Given the description of an element on the screen output the (x, y) to click on. 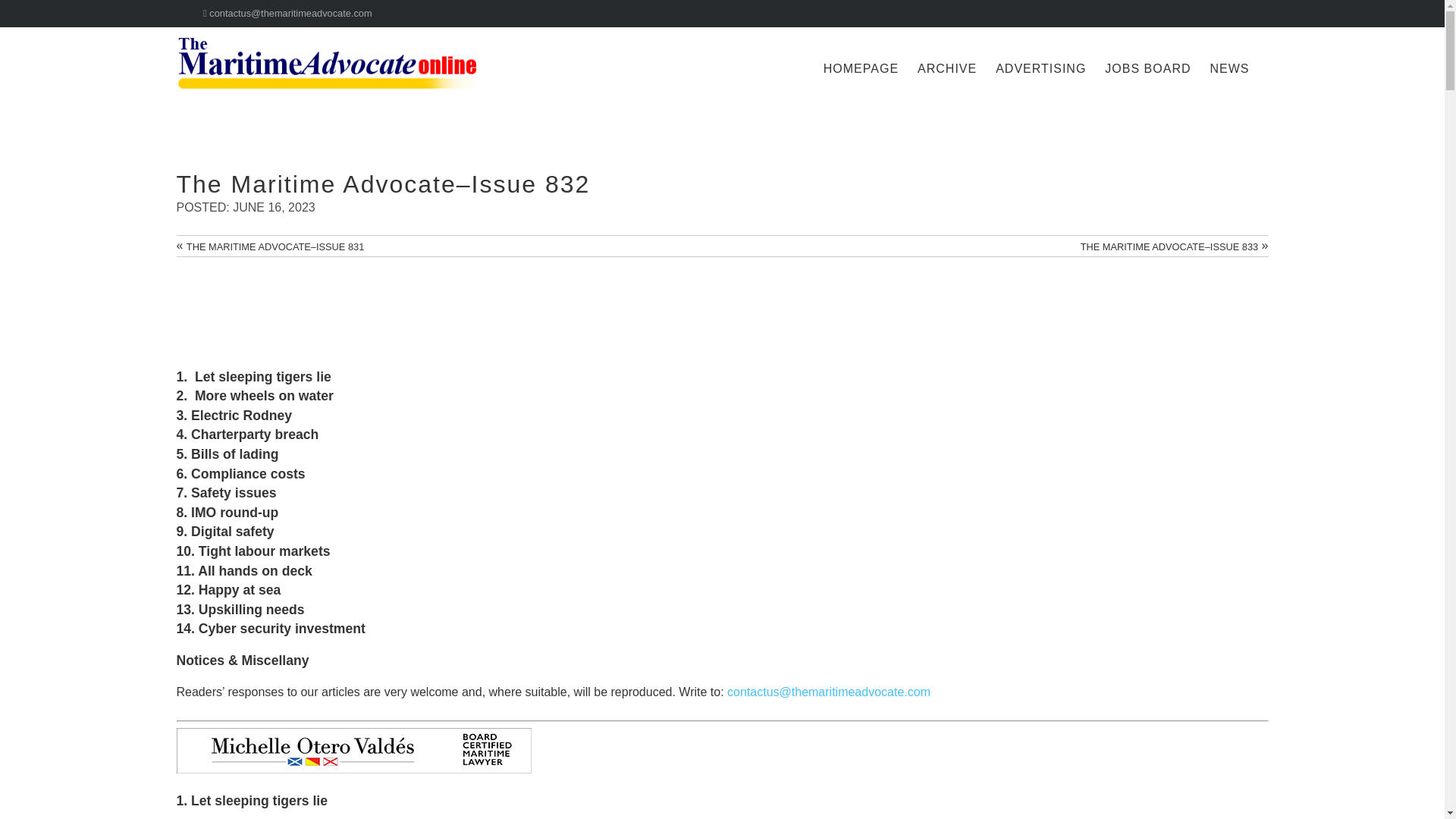
ADVERTISING (1038, 68)
HOMEPAGE (858, 68)
JOBS BOARD (1145, 68)
Homepage (858, 68)
News (1227, 68)
Jobs Board (1145, 68)
Archive (945, 68)
Advertising (1038, 68)
ARCHIVE (945, 68)
NEWS (1227, 68)
